Given the description of an element on the screen output the (x, y) to click on. 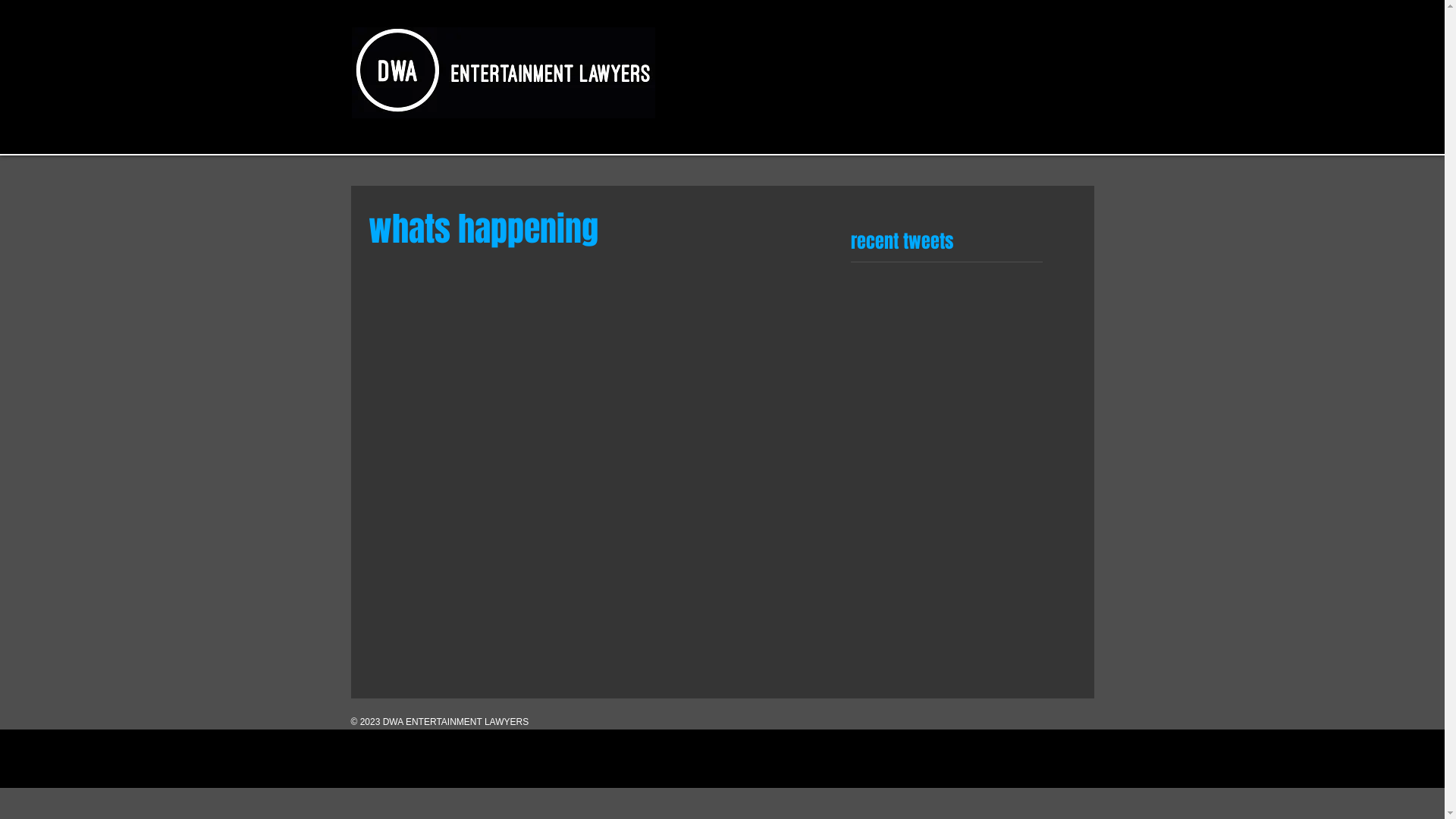
Edited Image 2015-9-28-9:8:18 Element type: hover (503, 72)
Twitter Follow Element type: hover (912, 282)
